Given the description of an element on the screen output the (x, y) to click on. 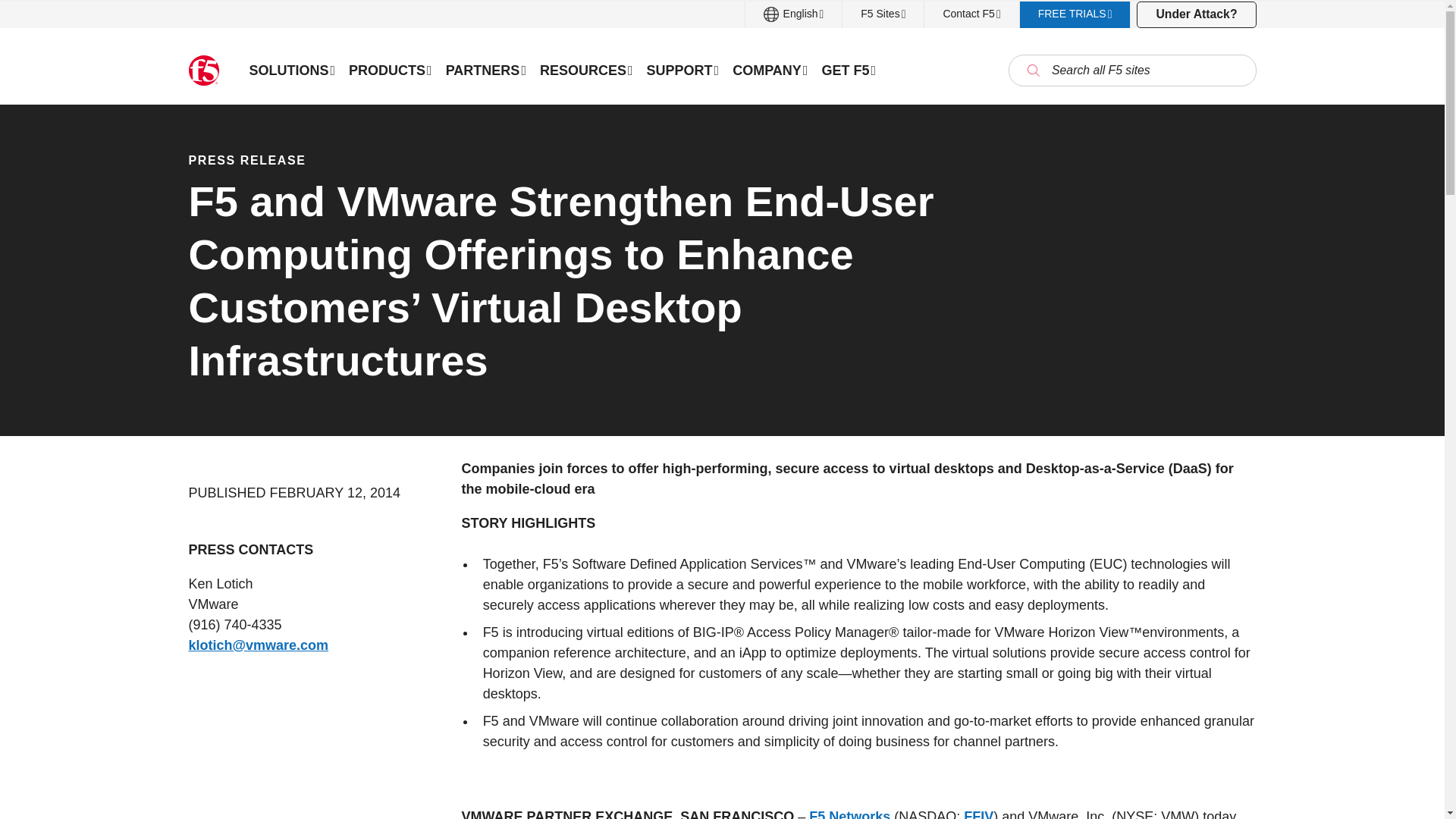
F5 Sites (883, 13)
COMPANY (769, 69)
RESOURCES (586, 69)
Under Attack? (1196, 14)
F5 Networks (849, 814)
English (794, 13)
SOLUTIONS (292, 69)
FREE TRIALS (1075, 13)
GET F5 (847, 69)
PARTNERS (485, 69)
